Given the description of an element on the screen output the (x, y) to click on. 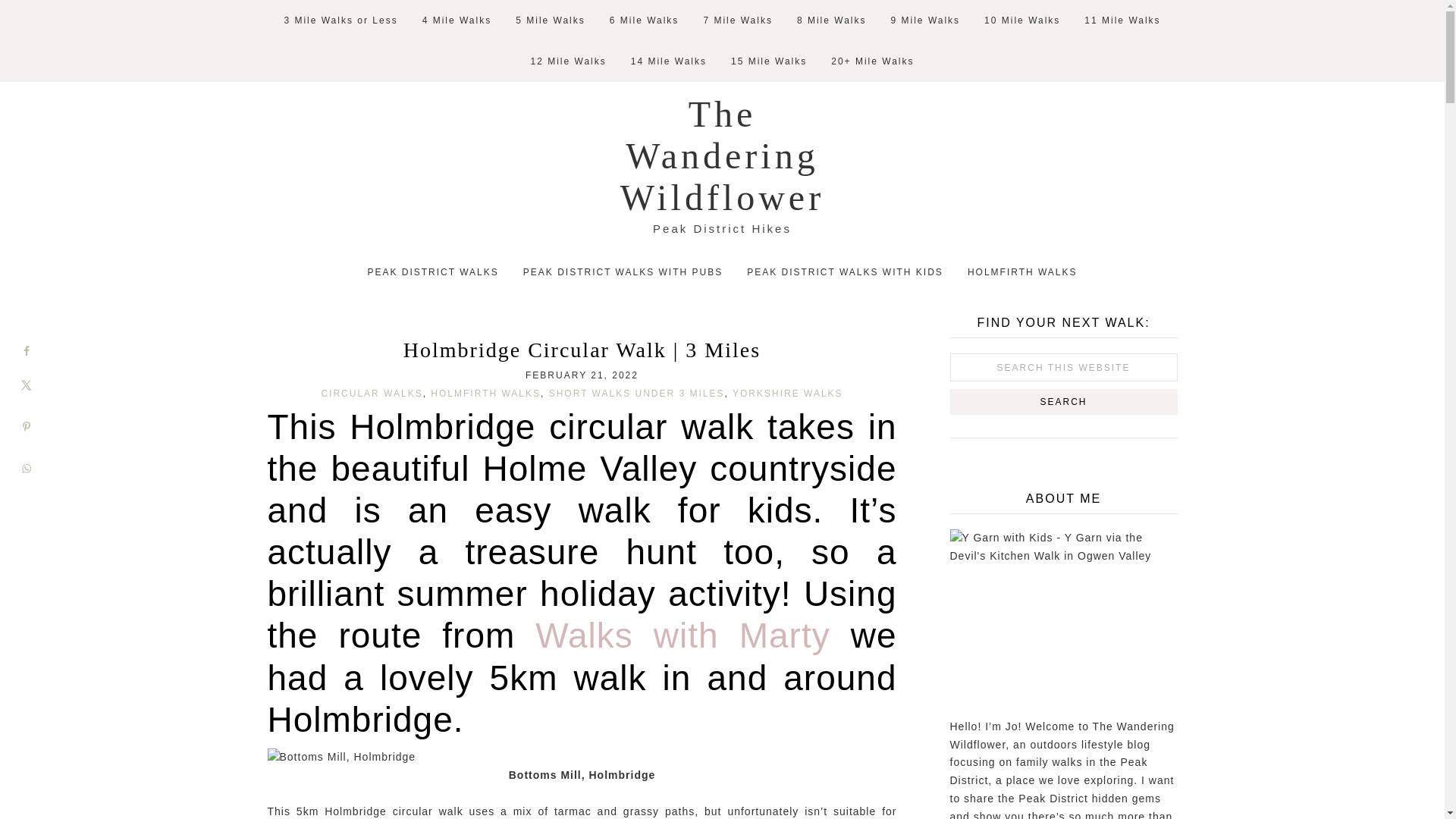
The Wandering Wildflower (722, 155)
9 Mile Walks (925, 20)
6 Mile Walks (643, 20)
Share on Facebook (25, 350)
7 Mile Walks (737, 20)
PEAK DISTRICT WALKS WITH KIDS (845, 271)
Search (1062, 401)
Walks with Marty (682, 635)
Save to Pinterest (25, 426)
PEAK DISTRICT WALKS (433, 271)
